Given the description of an element on the screen output the (x, y) to click on. 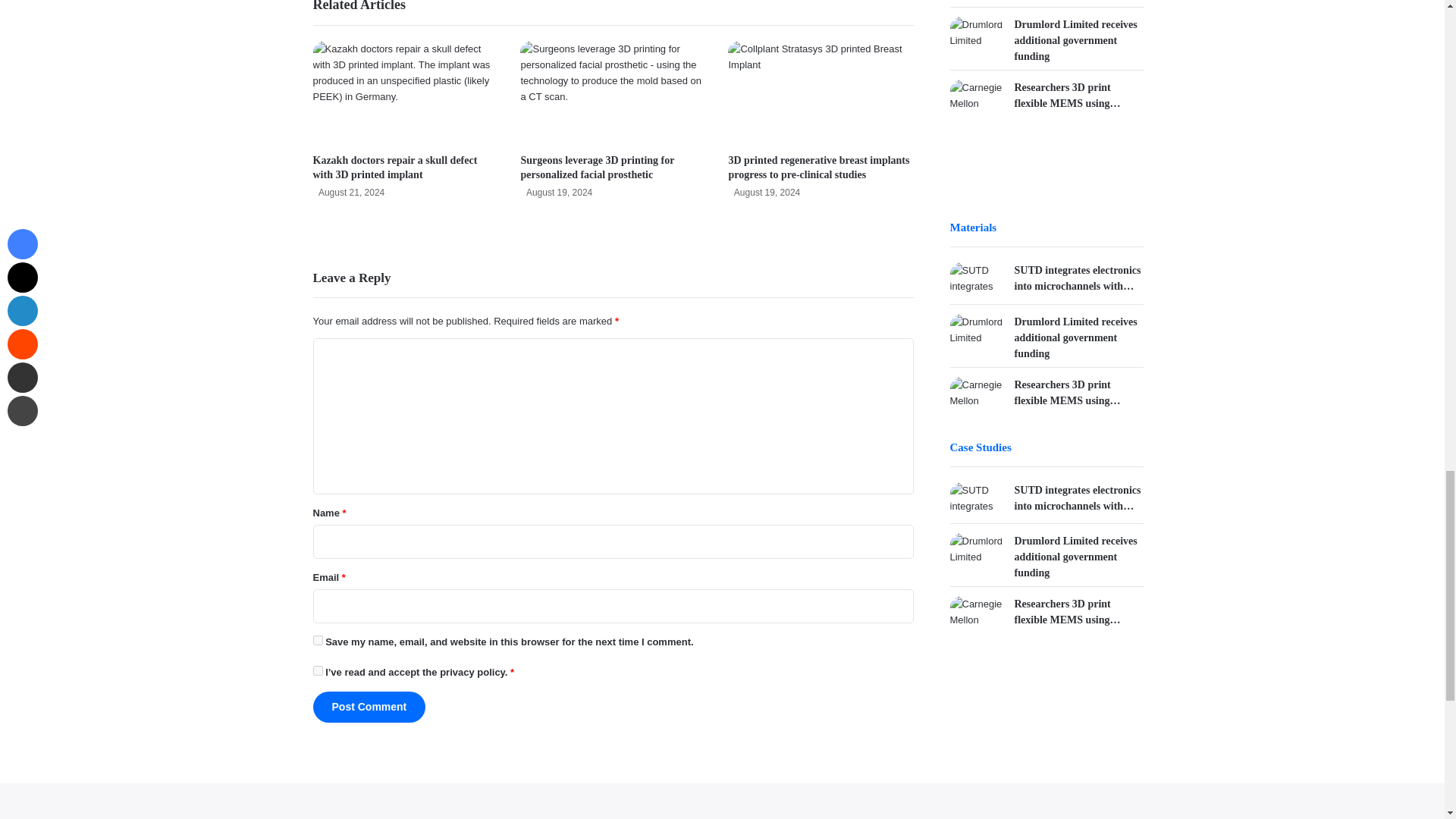
Post Comment (369, 706)
yes (317, 640)
on (317, 670)
